Given the description of an element on the screen output the (x, y) to click on. 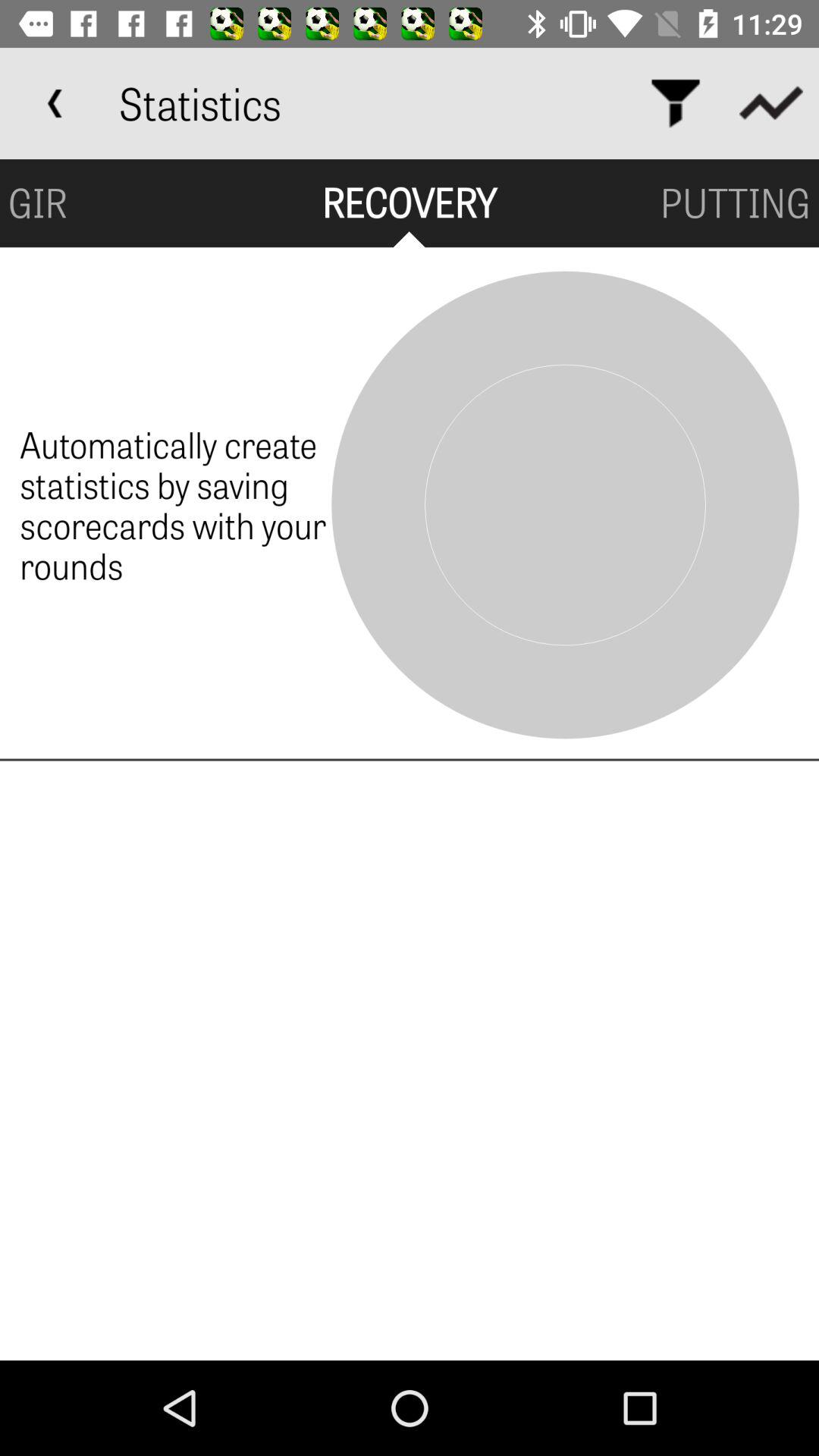
select icon next to the statistics item (675, 103)
